Given the description of an element on the screen output the (x, y) to click on. 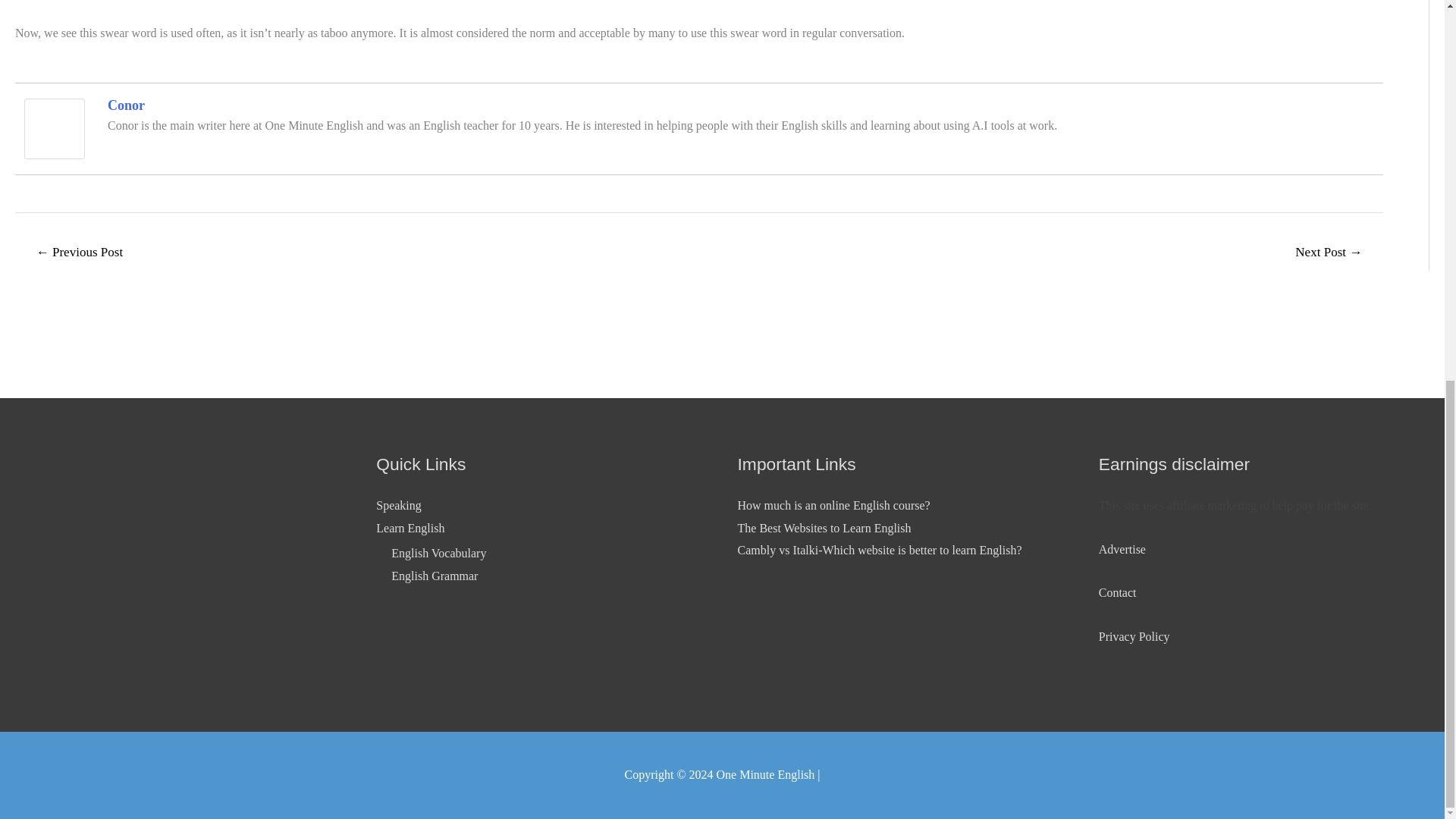
Conor (54, 127)
The Best Websites to Learn English (823, 527)
Conor (125, 105)
Speaking (398, 504)
Cambly vs Italki-Which website is better to learn English? (879, 549)
How much is an online English course? (833, 504)
English Grammar (434, 575)
English Vocabulary (438, 553)
Privacy Policy (1134, 635)
Advertise (1122, 549)
Learn English (409, 527)
Contact (1118, 592)
